Given the description of an element on the screen output the (x, y) to click on. 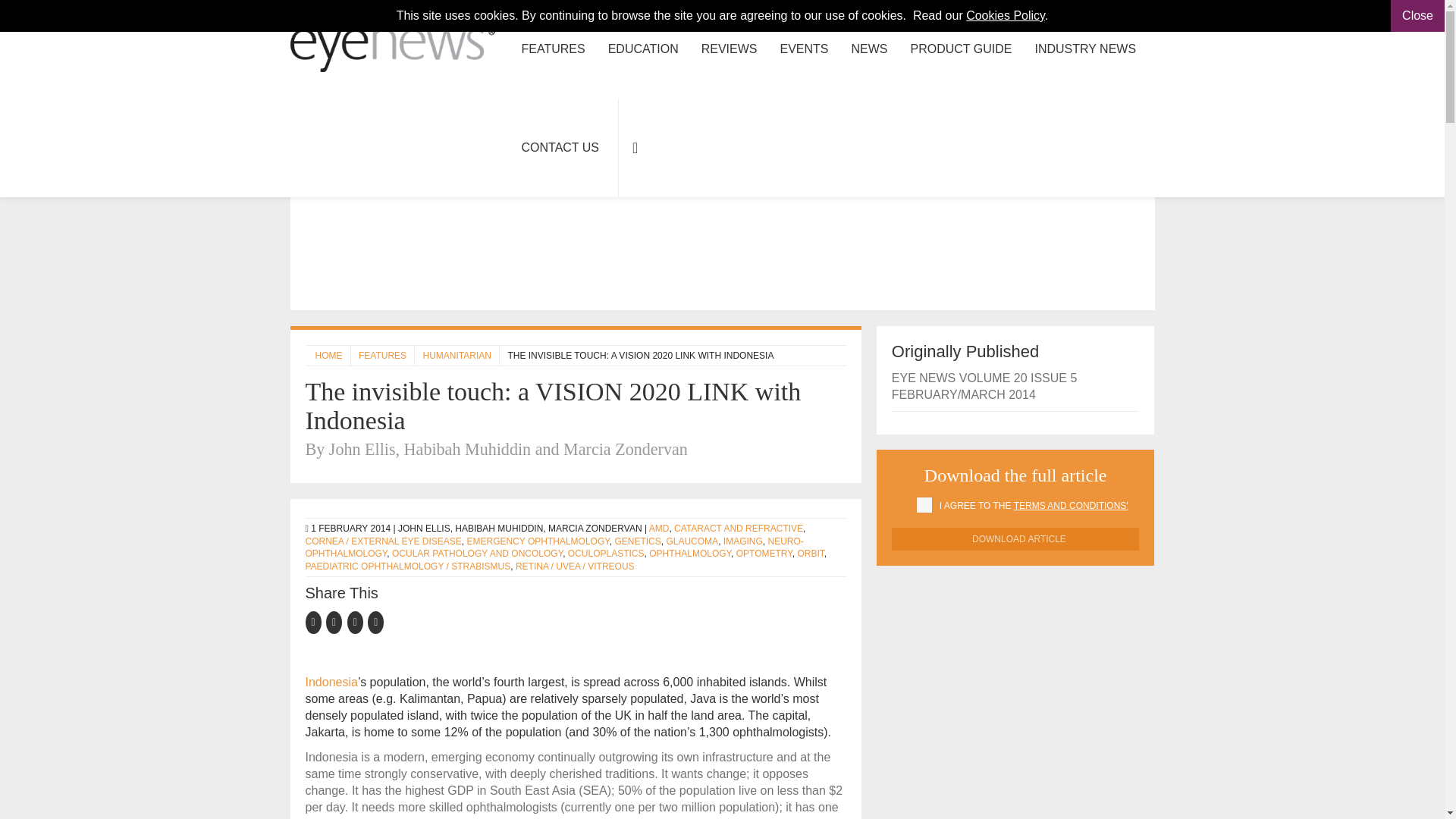
EDUCATION (643, 49)
Cookies Policy (1005, 15)
On LinkedIn (357, 621)
PRODUCT GUIDE (961, 49)
Indonesia (330, 681)
On Facebook (315, 621)
INDUSTRY NEWS (1085, 49)
On Twitter (336, 621)
On Reddit (376, 621)
